Given the description of an element on the screen output the (x, y) to click on. 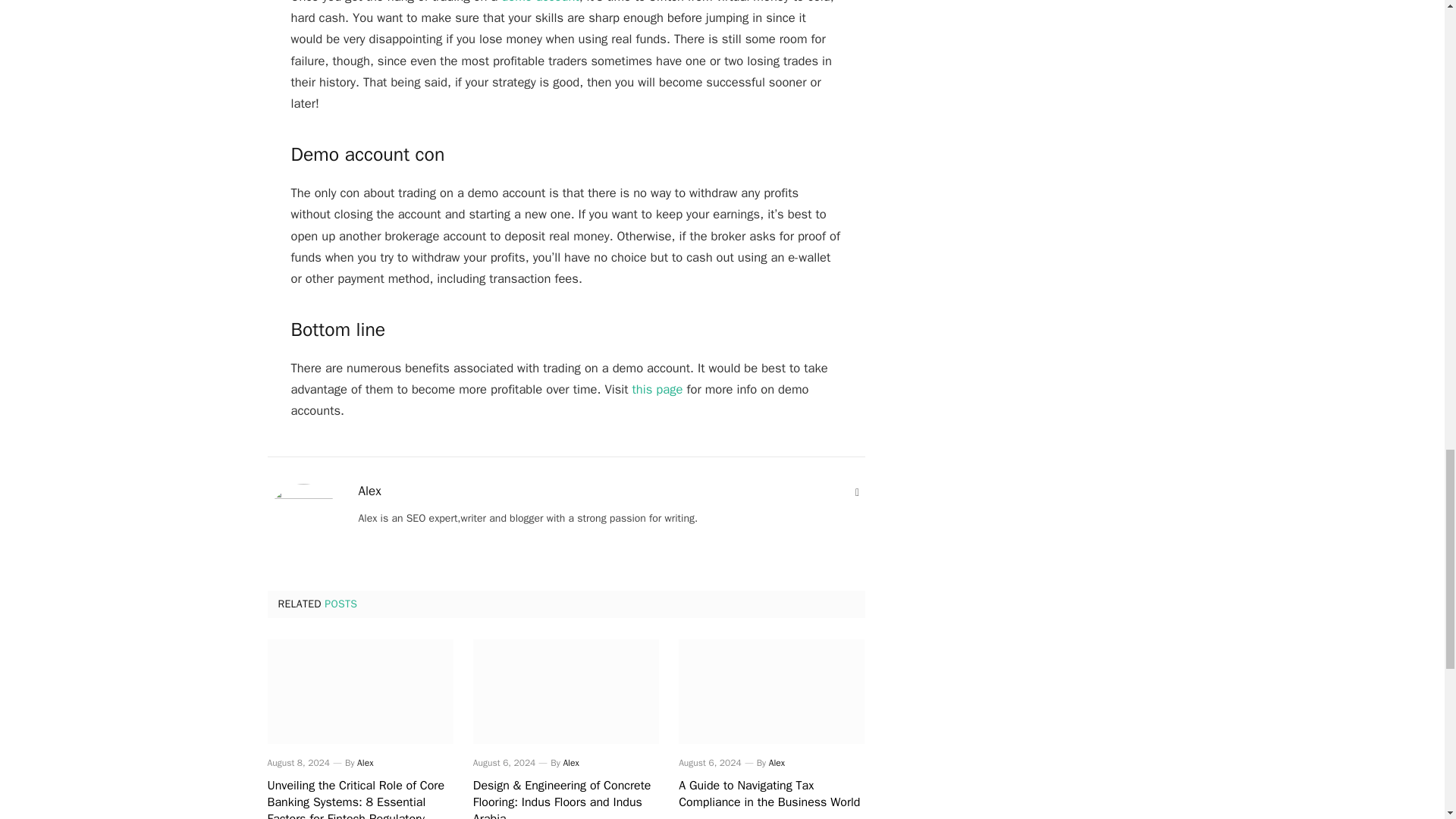
demo account (539, 2)
Alex (776, 762)
Alex (570, 762)
A Guide to Navigating Tax Compliance in the Business World (771, 794)
Posts by Alex (570, 762)
Website (856, 492)
Alex (364, 762)
Website (856, 492)
this page (656, 389)
